Given the description of an element on the screen output the (x, y) to click on. 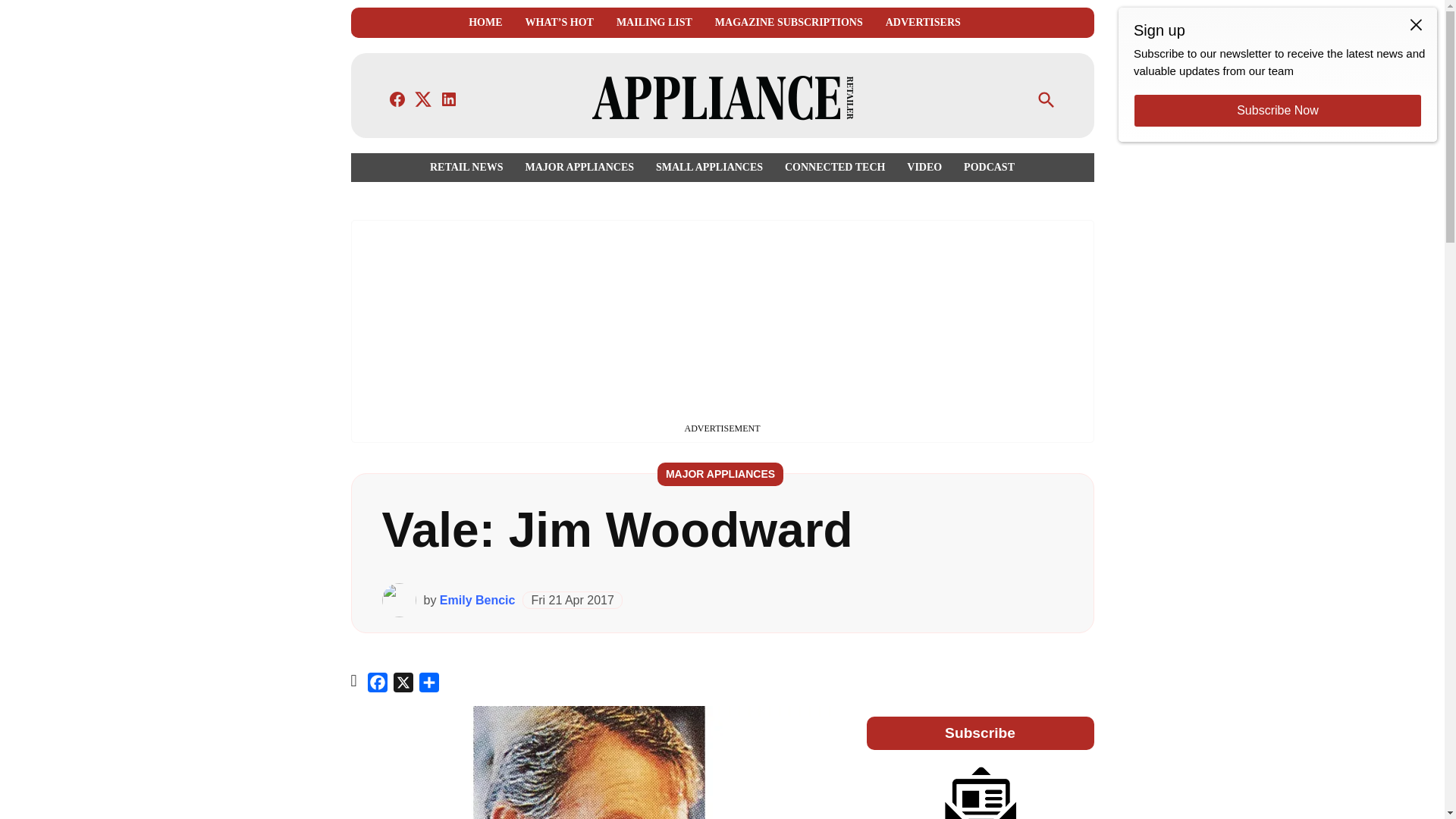
TWITTER (422, 99)
HOME (484, 22)
SMALL APPLIANCES (708, 167)
MAJOR APPLIANCES (579, 167)
MAJOR APPLIANCES (720, 474)
VIDEO (924, 167)
RETAIL NEWS (470, 167)
PODCAST (985, 167)
Appliance Retailer (983, 109)
